Given the description of an element on the screen output the (x, y) to click on. 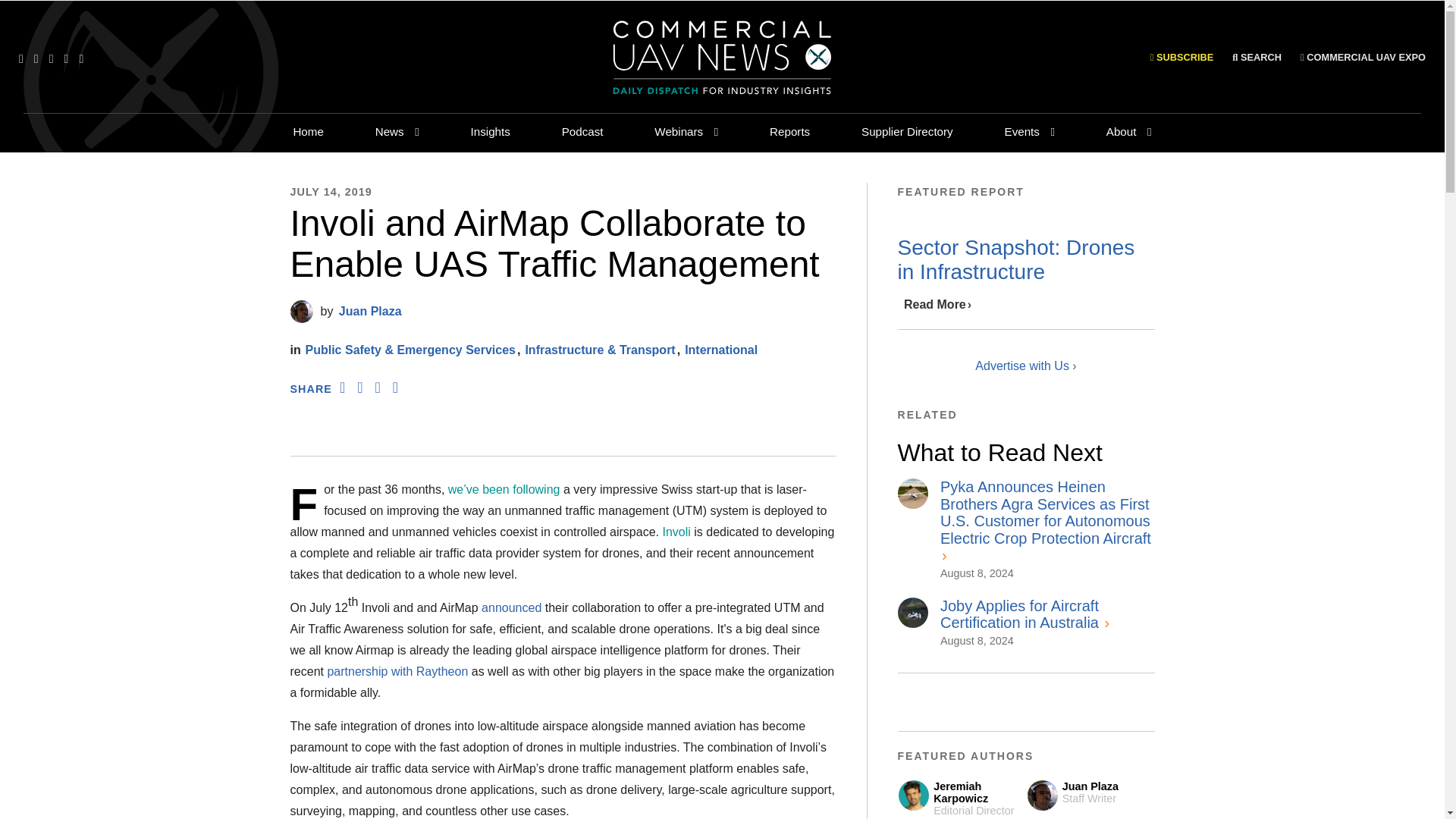
Subscribe (1182, 57)
Home (308, 131)
 COMMERCIAL UAV EXPO (1362, 57)
News (390, 131)
Commercial UAV Expo (1362, 57)
 SEARCH (1256, 57)
